Given the description of an element on the screen output the (x, y) to click on. 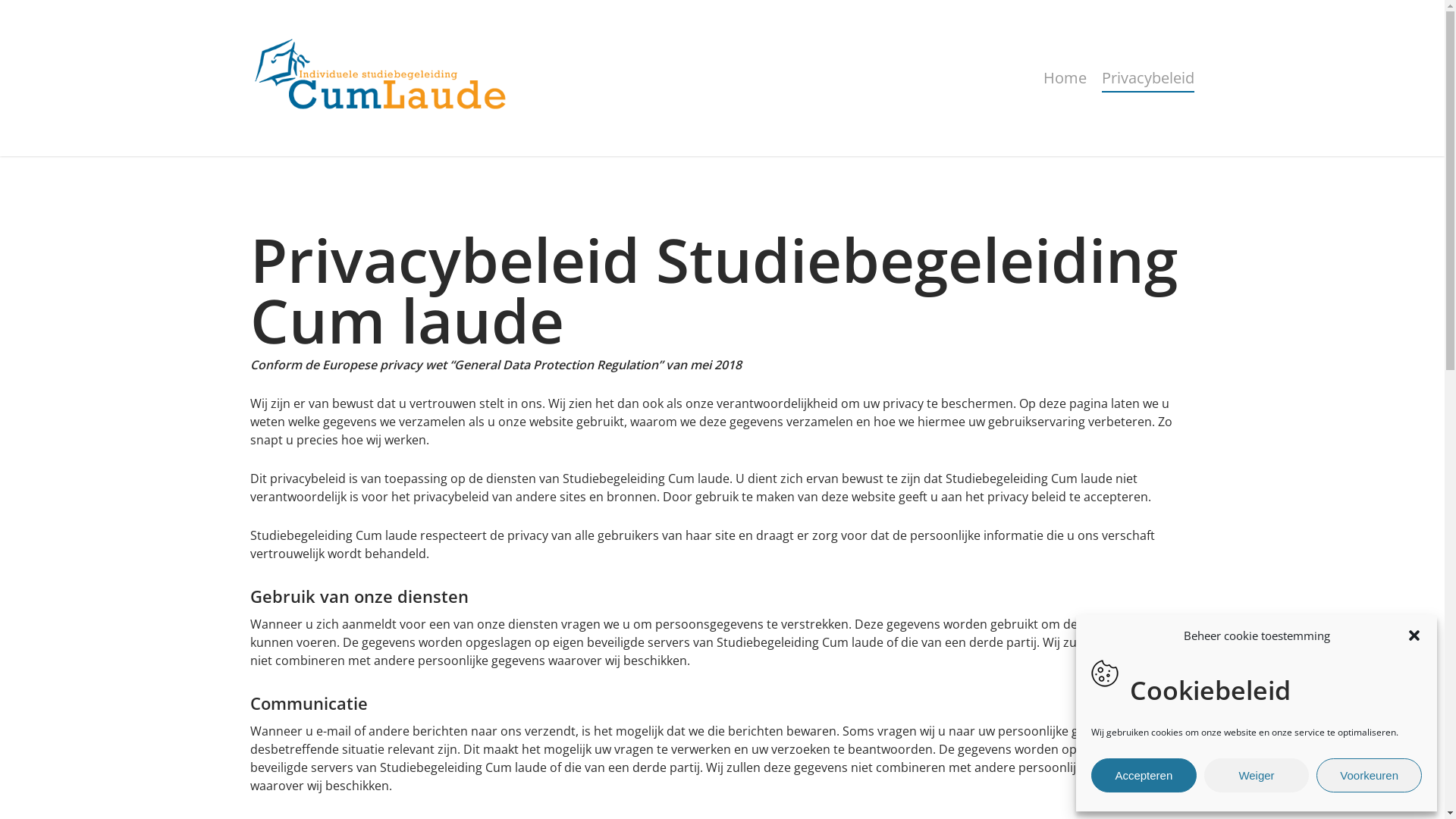
Weiger Element type: text (1256, 775)
Home Element type: text (1064, 77)
Privacybeleid Element type: text (1147, 77)
Voorkeuren Element type: text (1368, 775)
Accepteren Element type: text (1143, 775)
